Given the description of an element on the screen output the (x, y) to click on. 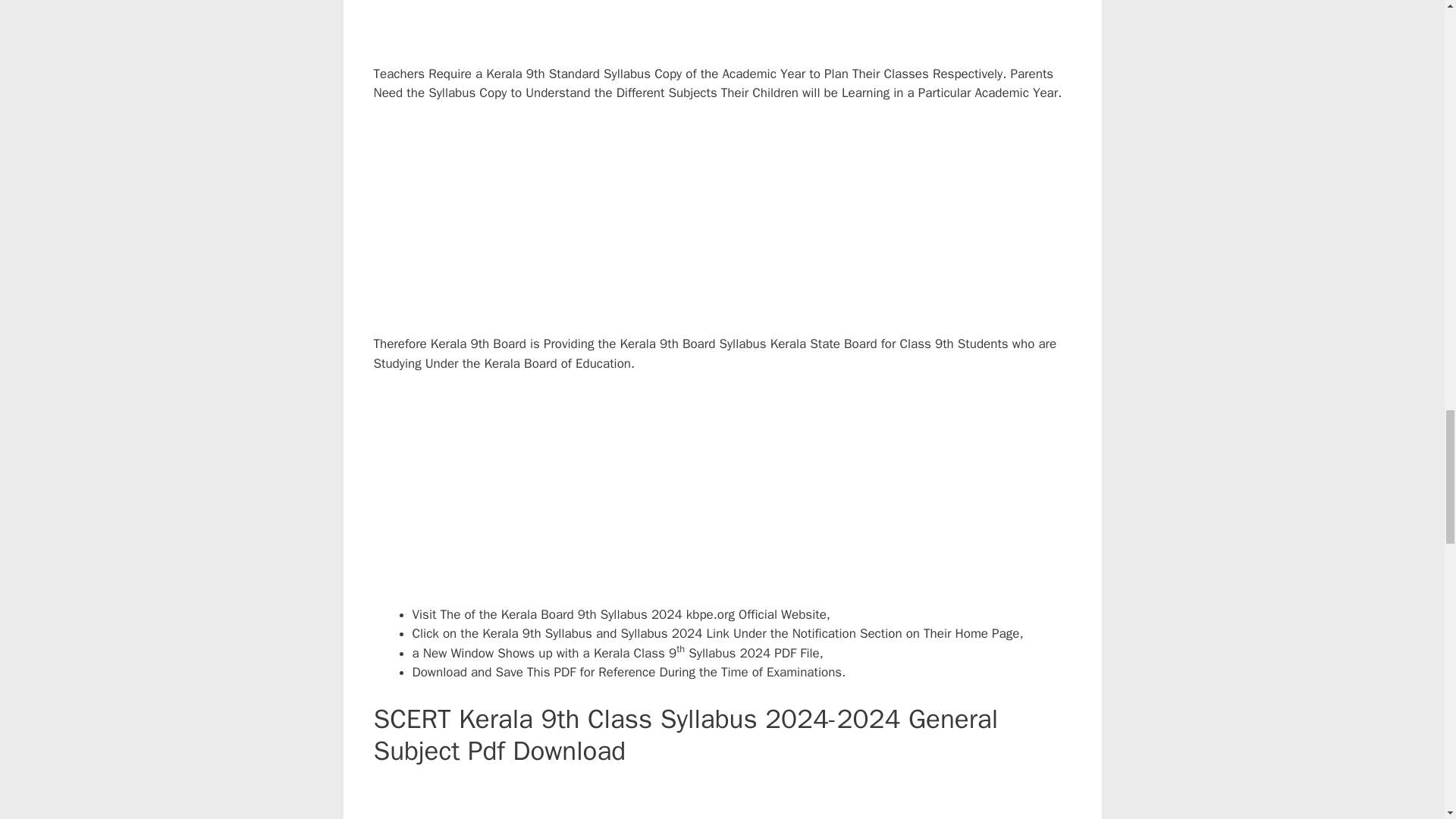
Advertisement (736, 32)
